Given the description of an element on the screen output the (x, y) to click on. 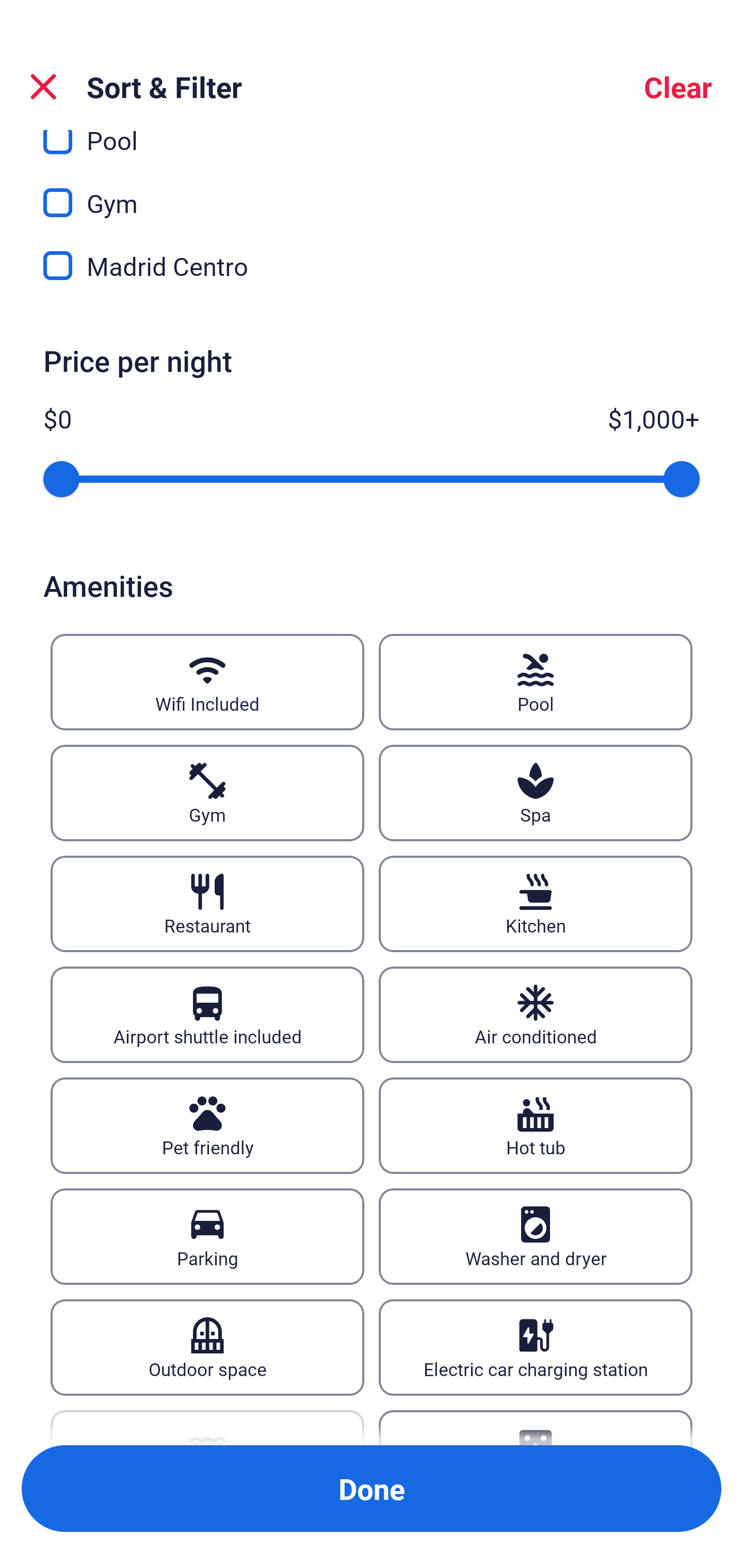
Close Sort and Filter (43, 86)
Clear (677, 86)
Gym, Gym (371, 190)
Madrid Centro, Madrid Centro (371, 265)
Wifi Included (207, 681)
Pool (535, 681)
Gym (207, 793)
Spa (535, 793)
Restaurant (207, 903)
Kitchen (535, 903)
Airport shuttle included (207, 1014)
Air conditioned (535, 1014)
Pet friendly (207, 1125)
Hot tub (535, 1125)
Parking (207, 1236)
Washer and dryer (535, 1236)
Outdoor space (207, 1347)
Electric car charging station (535, 1347)
Apply and close Sort and Filter Done (371, 1488)
